Given the description of an element on the screen output the (x, y) to click on. 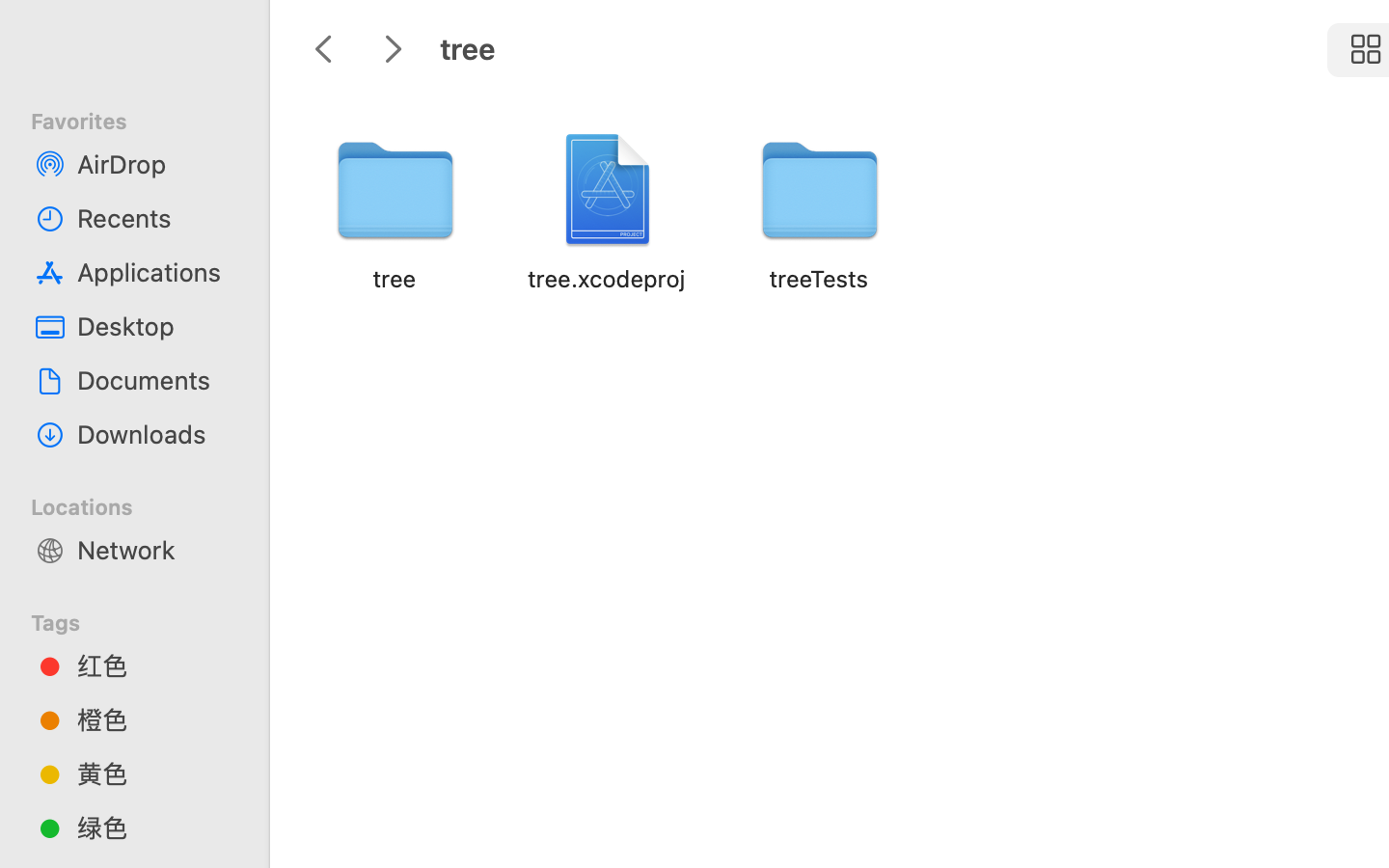
黄色 Element type: AXStaticText (155, 773)
Applications Element type: AXStaticText (155, 271)
Recents Element type: AXStaticText (155, 217)
红色 Element type: AXStaticText (155, 665)
Desktop Element type: AXStaticText (155, 325)
